Given the description of an element on the screen output the (x, y) to click on. 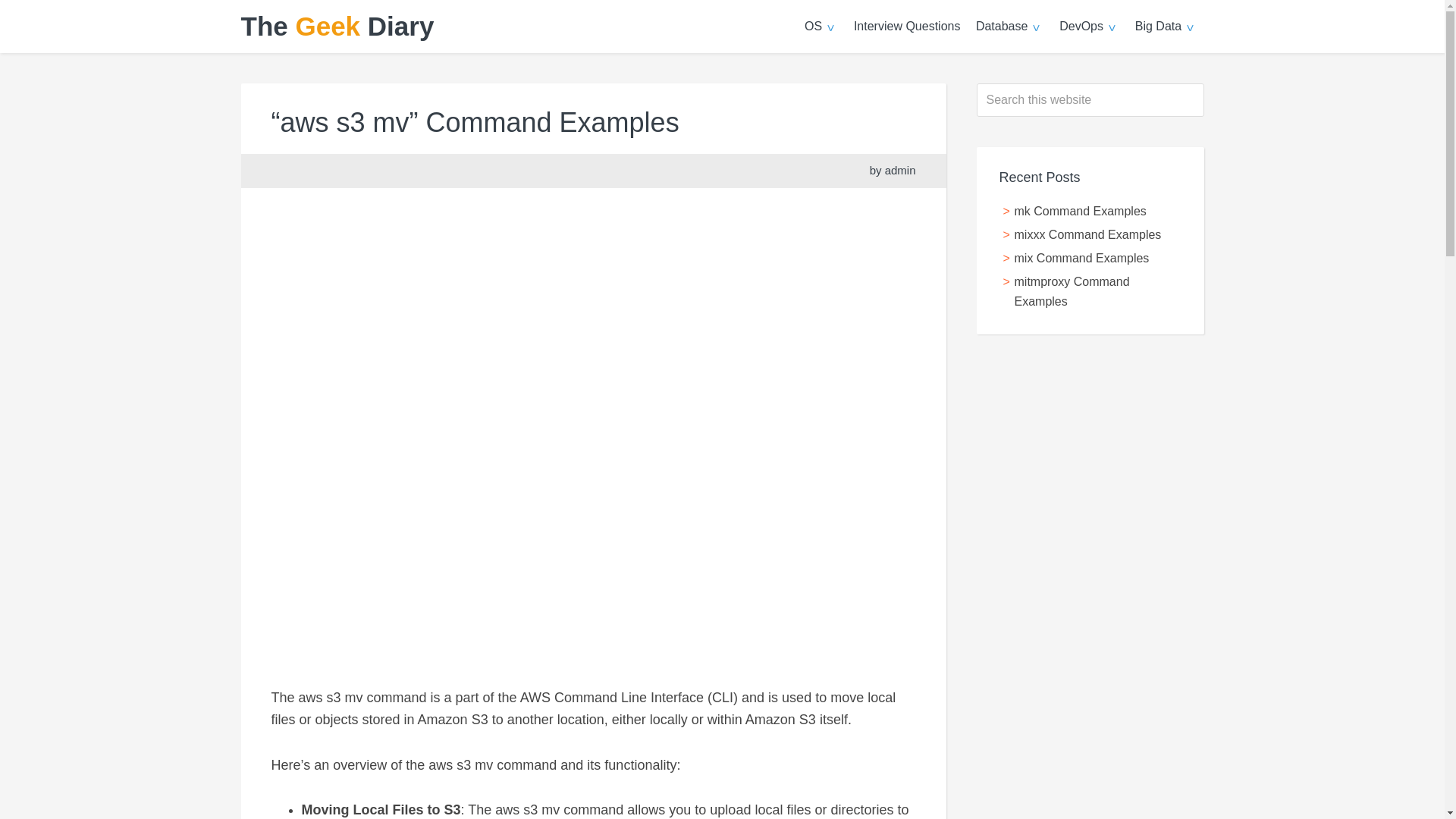
admin (900, 169)
Database (1009, 26)
mix Command Examples (1082, 257)
Big Data (1166, 26)
Interview Questions (906, 26)
DevOps (1088, 26)
Advertisement (1090, 591)
mixxx Command Examples (1087, 234)
The Geek Diary (337, 25)
mk Command Examples (1080, 210)
OS (820, 26)
The Geek Diary (337, 25)
mitmproxy Command Examples (1071, 291)
